Given the description of an element on the screen output the (x, y) to click on. 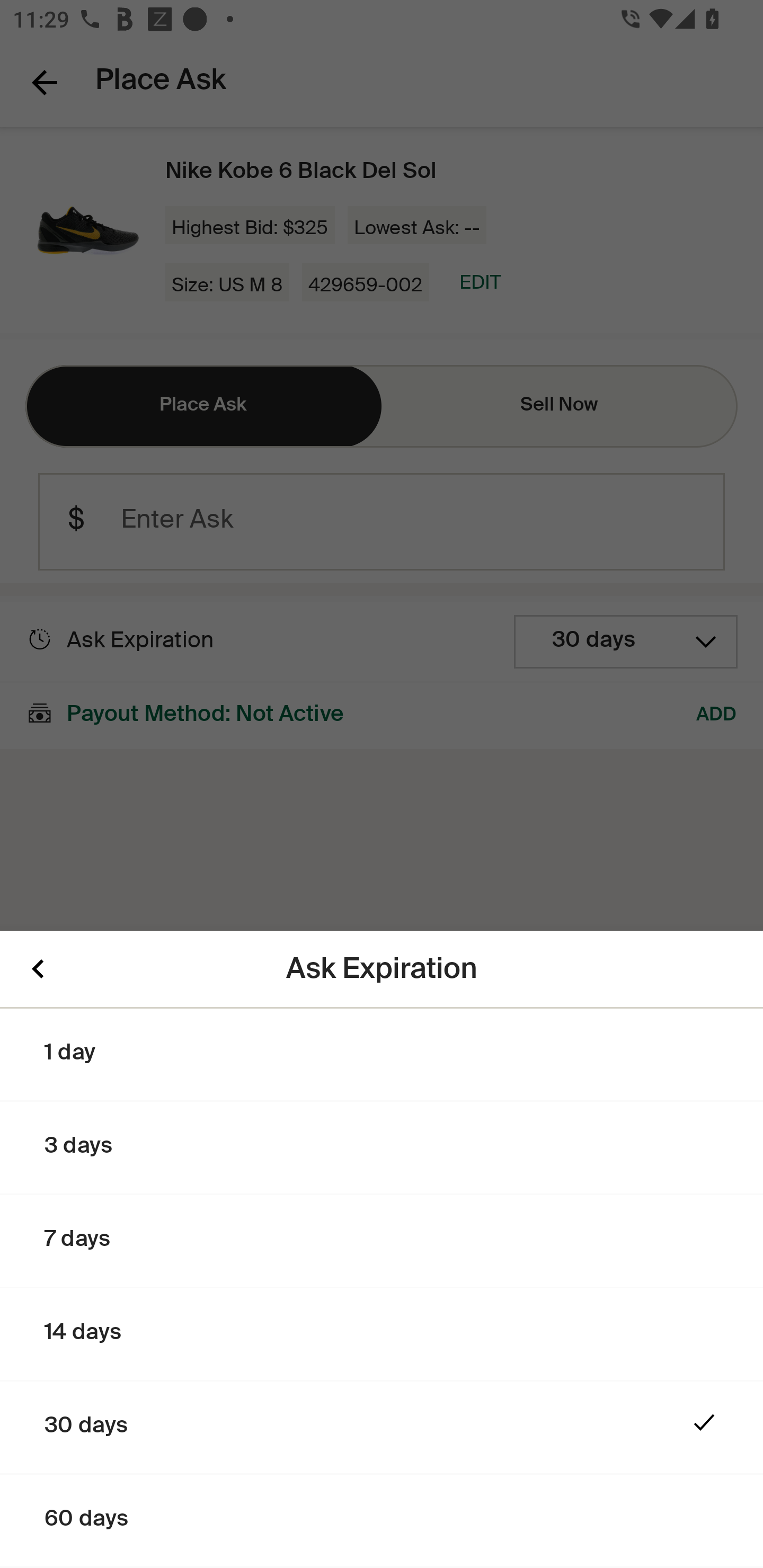
Modal title chevron left icon (38, 968)
1 day (381, 1055)
3 days (381, 1148)
7 days (381, 1241)
14 days (381, 1334)
30 days Check icon (381, 1428)
60 days (381, 1521)
